Given the description of an element on the screen output the (x, y) to click on. 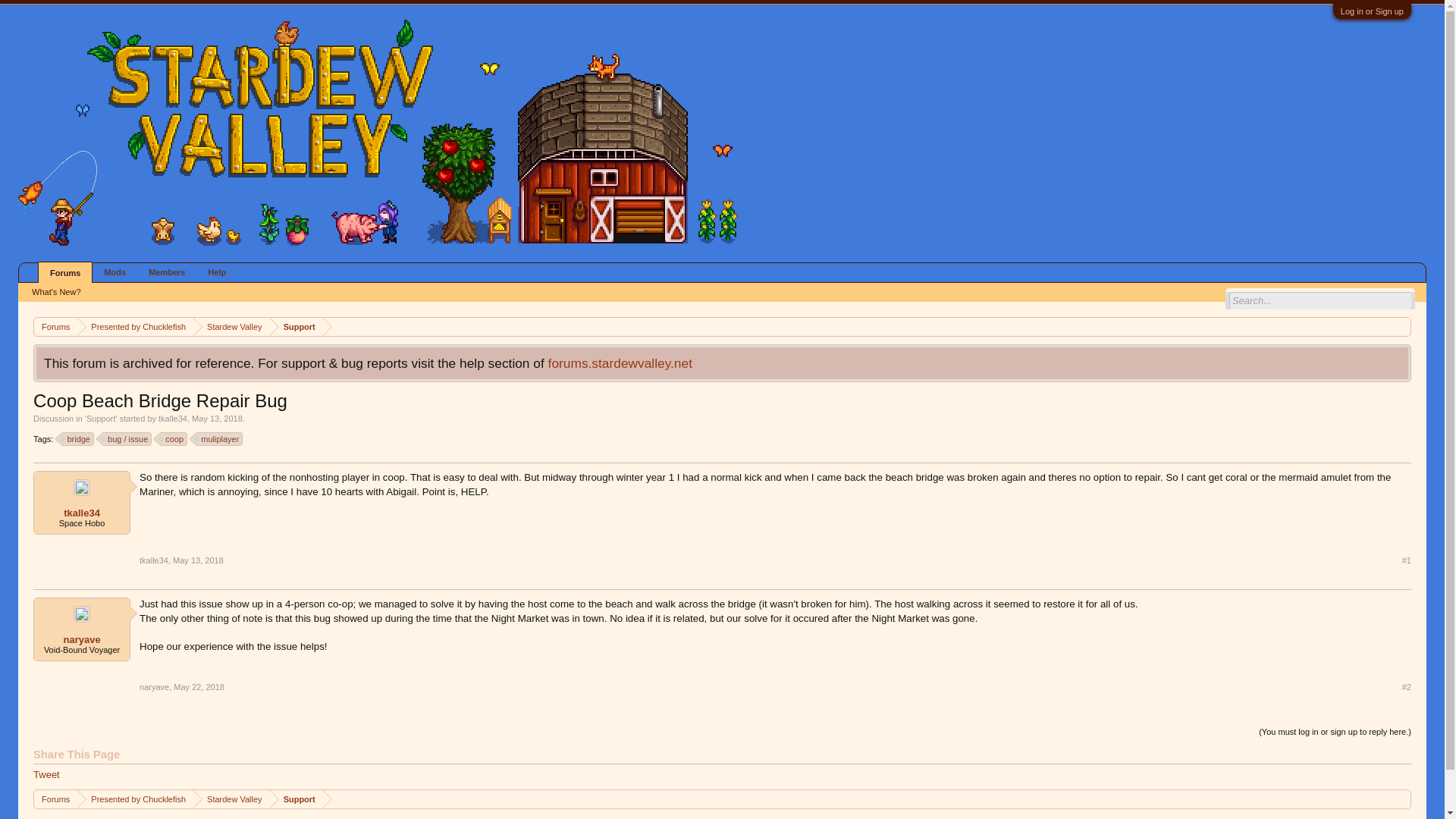
May 22, 2018 (198, 686)
Open quick navigation (1401, 798)
Presented by Chucklefish (135, 326)
May 13, 2018 (198, 560)
Permalink (198, 560)
Stardew Valley (231, 799)
forums.stardewvalley.net (620, 363)
Stardew Valley (231, 326)
tkalle34 (153, 560)
May 13, 2018 at 11:17 AM (217, 418)
Support (296, 326)
Presented by Chucklefish (135, 799)
bridge (78, 438)
coop (173, 438)
Tweet (46, 774)
